Given the description of an element on the screen output the (x, y) to click on. 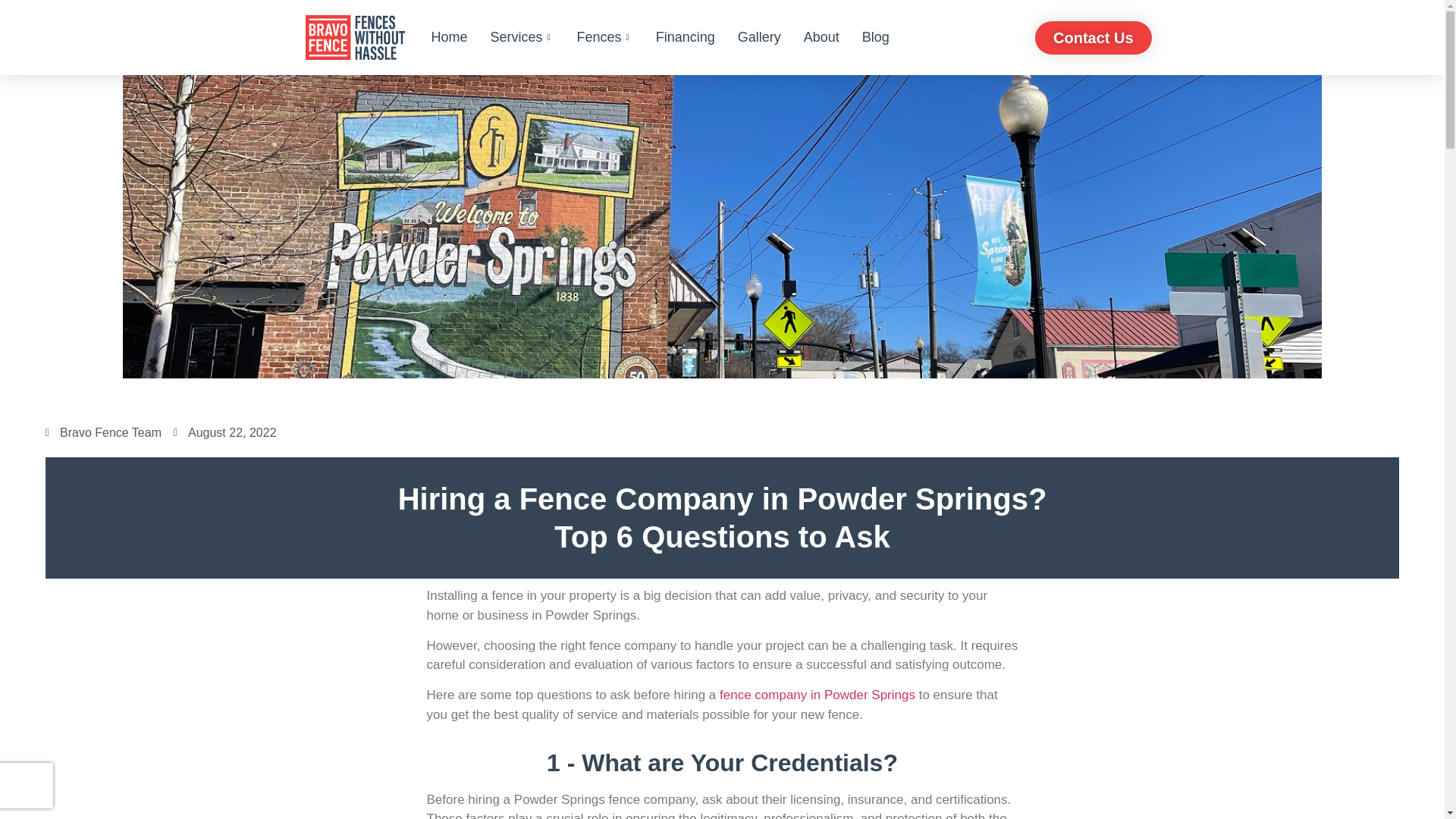
Services (522, 37)
Gallery (759, 37)
Contact Us (1093, 37)
Home (449, 37)
About (821, 37)
Financing (685, 37)
reCAPTCHA (26, 785)
Fences (605, 37)
